Given the description of an element on the screen output the (x, y) to click on. 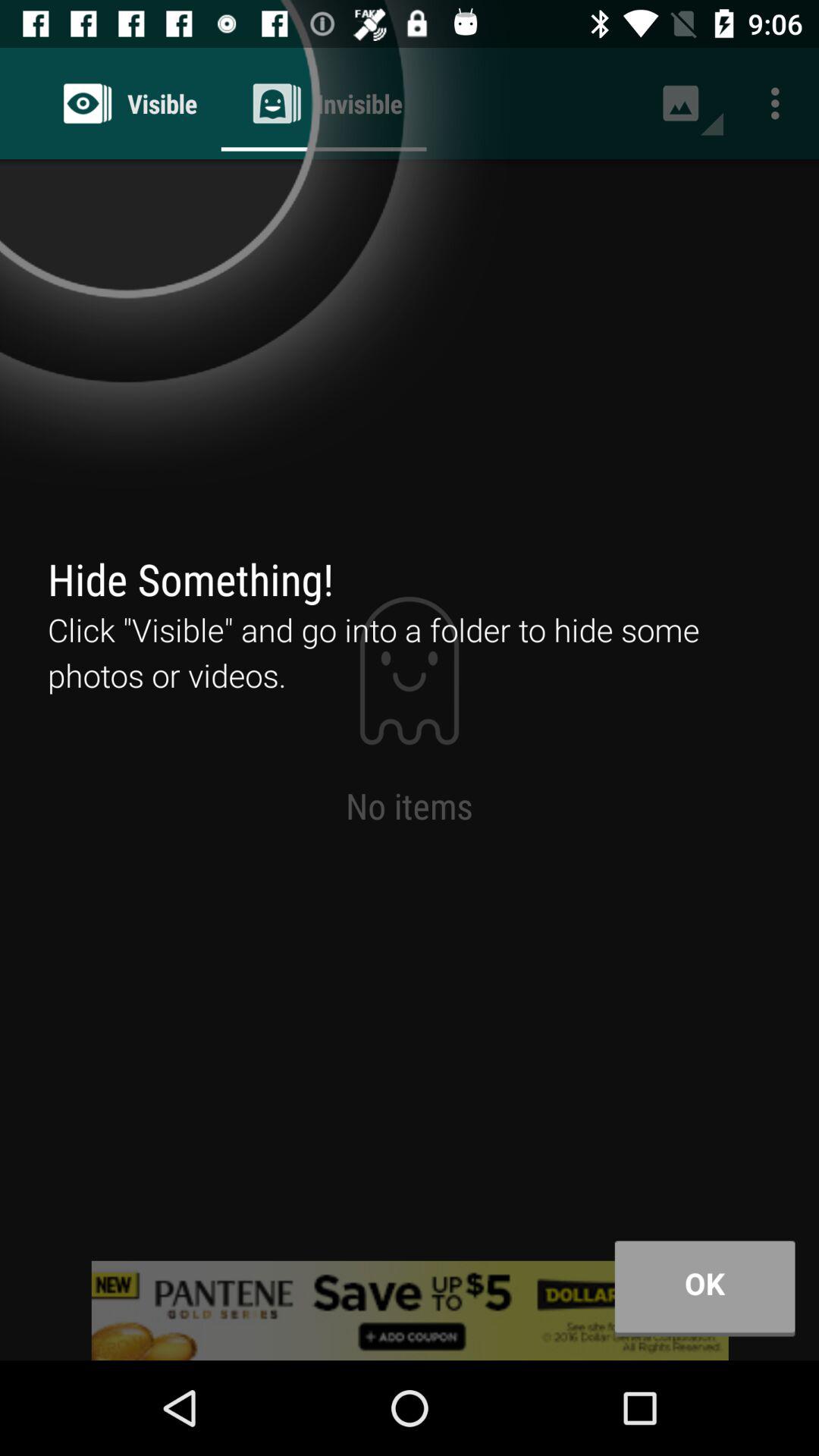
know about the advertisement (409, 1310)
